Given the description of an element on the screen output the (x, y) to click on. 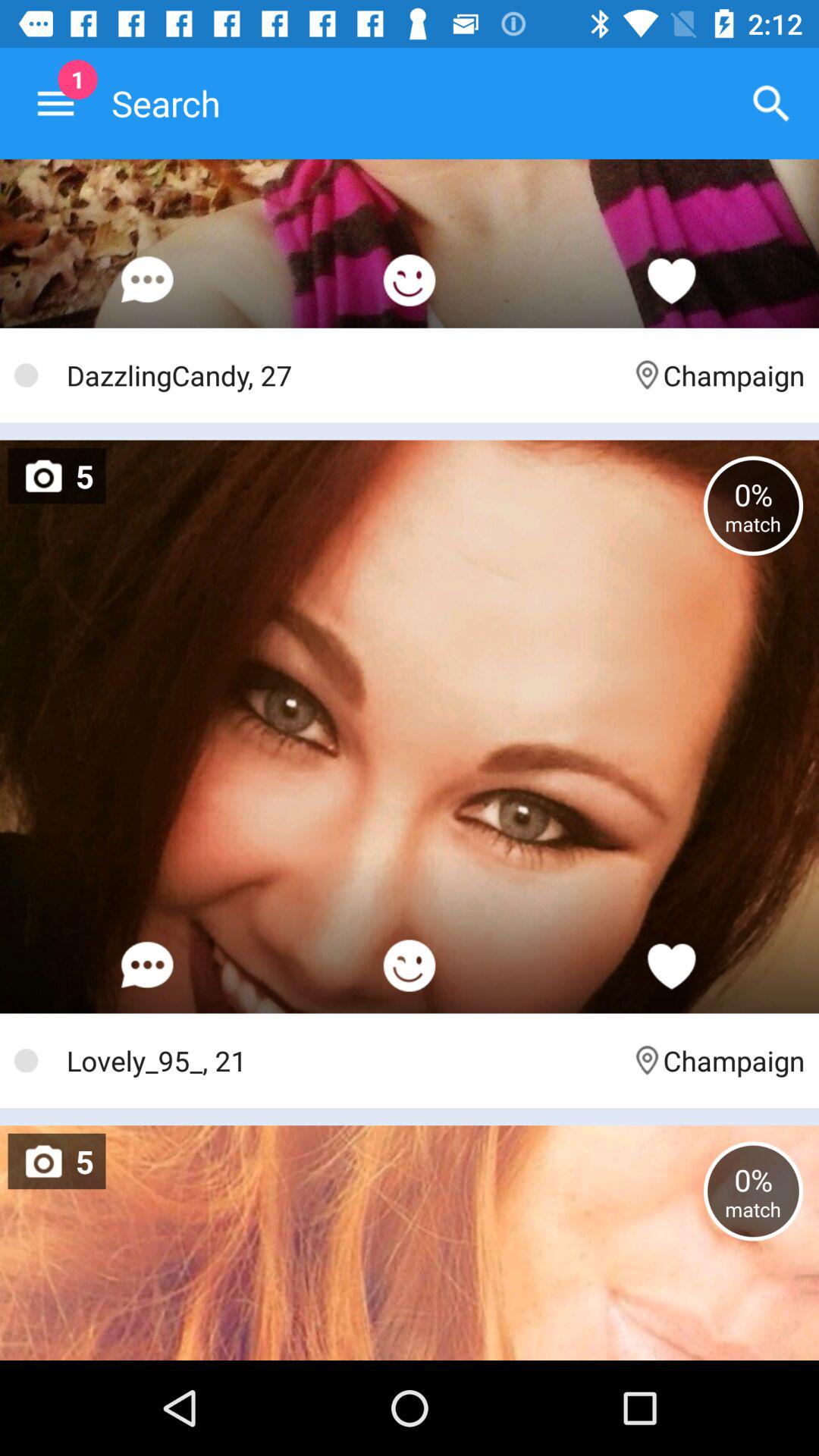
launch the item next to the search icon (55, 103)
